Given the description of an element on the screen output the (x, y) to click on. 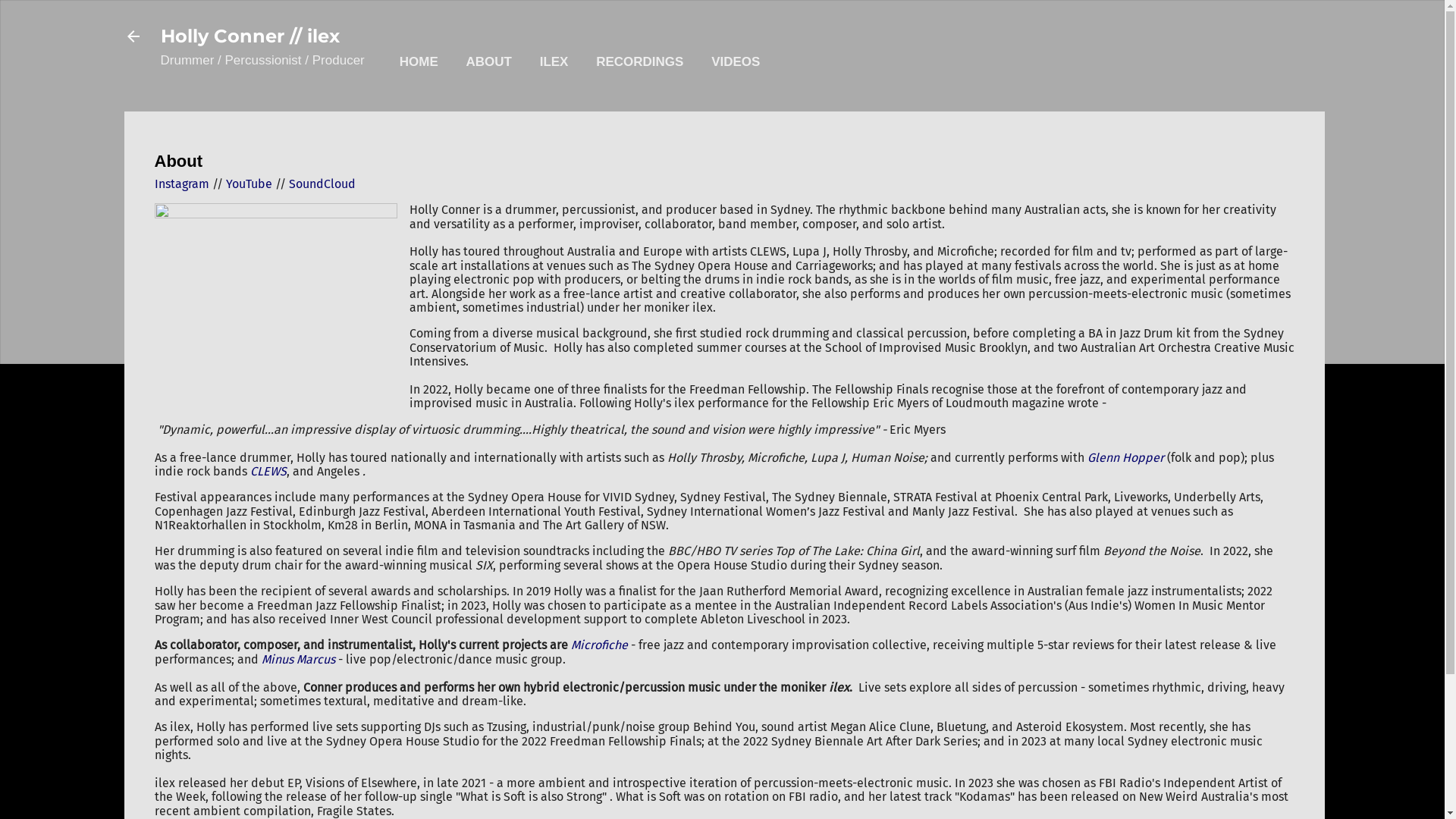
VIDEOS Element type: text (735, 61)
HOME Element type: text (418, 61)
Holly Conner // ilex Element type: text (249, 36)
Microfiche Element type: text (598, 644)
CLEWS Element type: text (268, 471)
YouTube Element type: text (248, 183)
ILEX Element type: text (553, 61)
Instagram Element type: text (181, 183)
Glenn Hopper  Element type: text (1127, 457)
ABOUT Element type: text (488, 61)
RECORDINGS Element type: text (639, 61)
SoundCloud Element type: text (321, 183)
Minus Marcus Element type: text (297, 659)
